Given the description of an element on the screen output the (x, y) to click on. 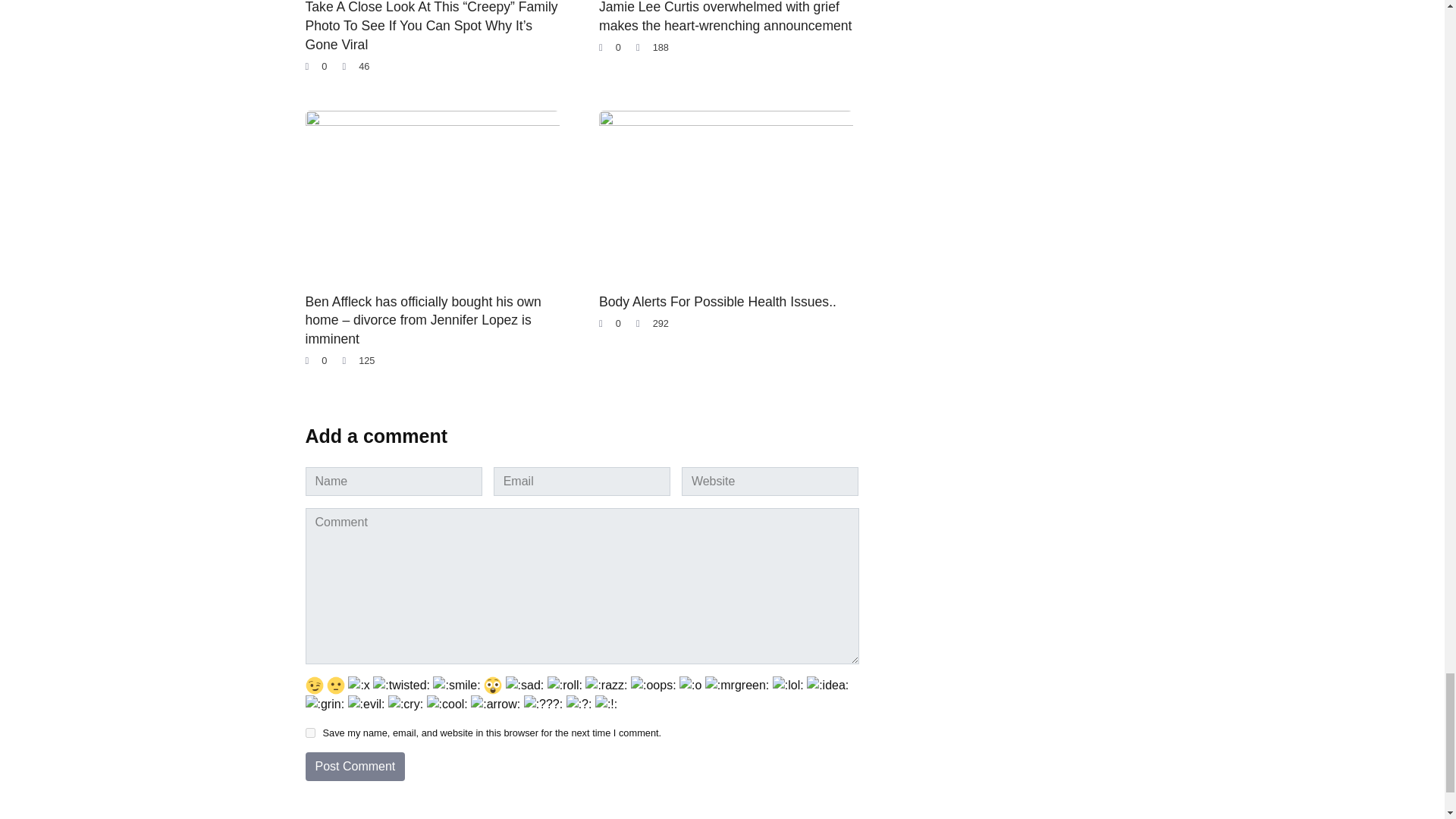
yes (309, 732)
Post Comment (354, 766)
Post Comment (354, 766)
Body Alerts For Possible Health Issues.. (716, 301)
